Given the description of an element on the screen output the (x, y) to click on. 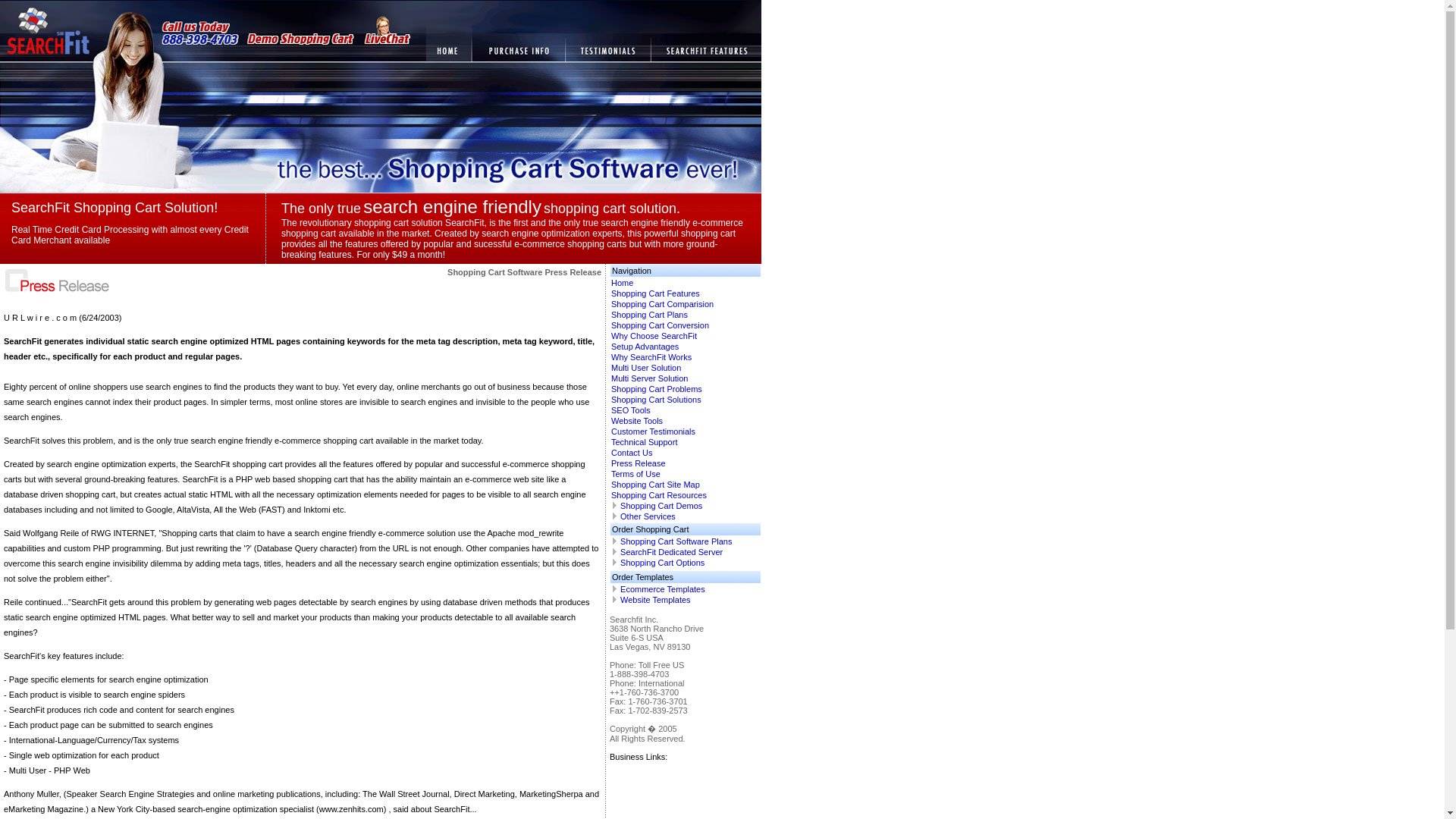
Shopping Cart Software Plans (676, 541)
Terms of Use (636, 473)
Other Services (647, 515)
Multi User Solution (646, 367)
Shopping Cart Conversion (660, 325)
Home (622, 282)
Multi Server Solution (649, 378)
Shopping Cart Solutions (656, 399)
Press Release (638, 462)
Ecommerce Templates (662, 588)
